Given the description of an element on the screen output the (x, y) to click on. 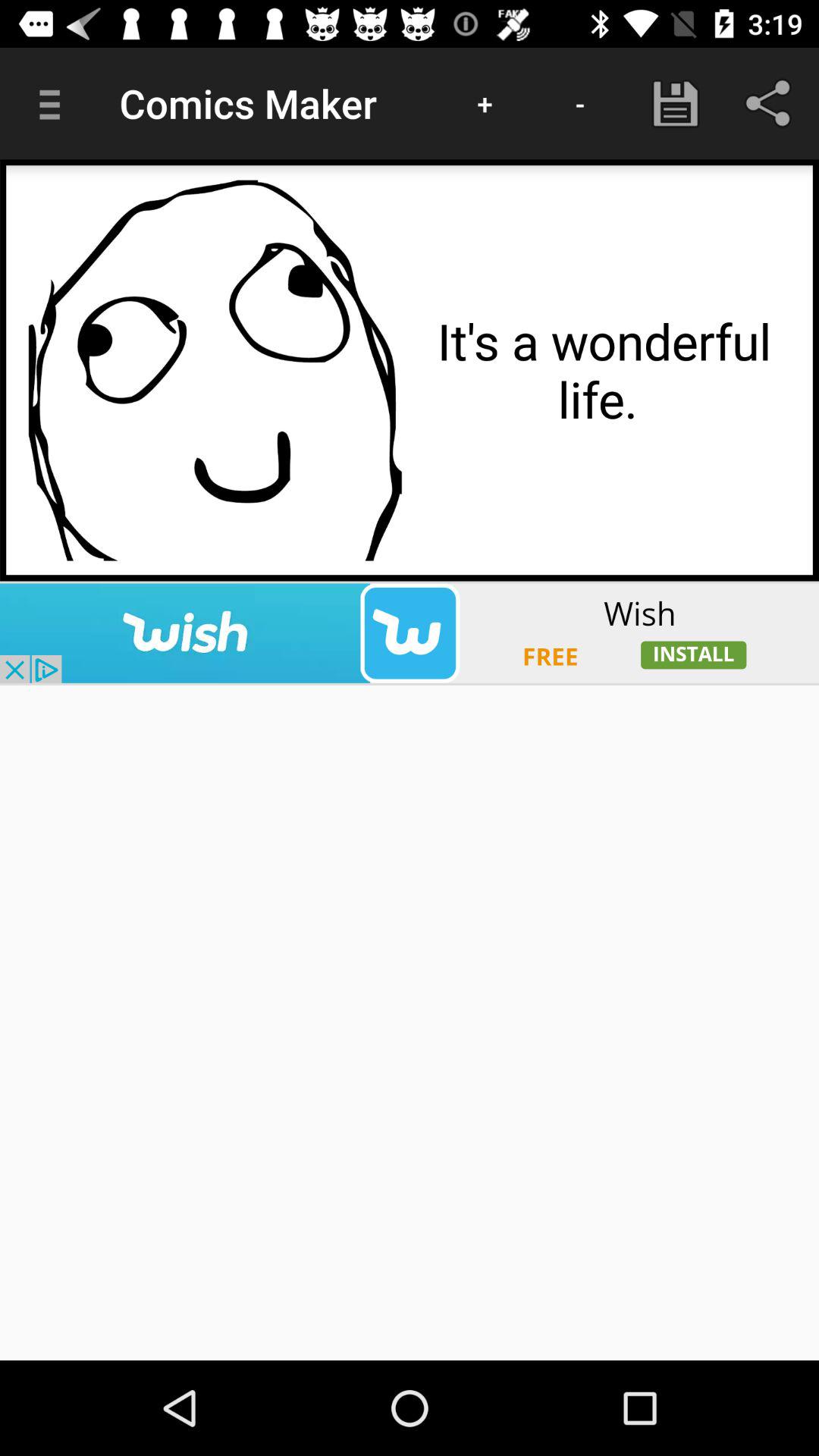
click to picture (214, 370)
